Given the description of an element on the screen output the (x, y) to click on. 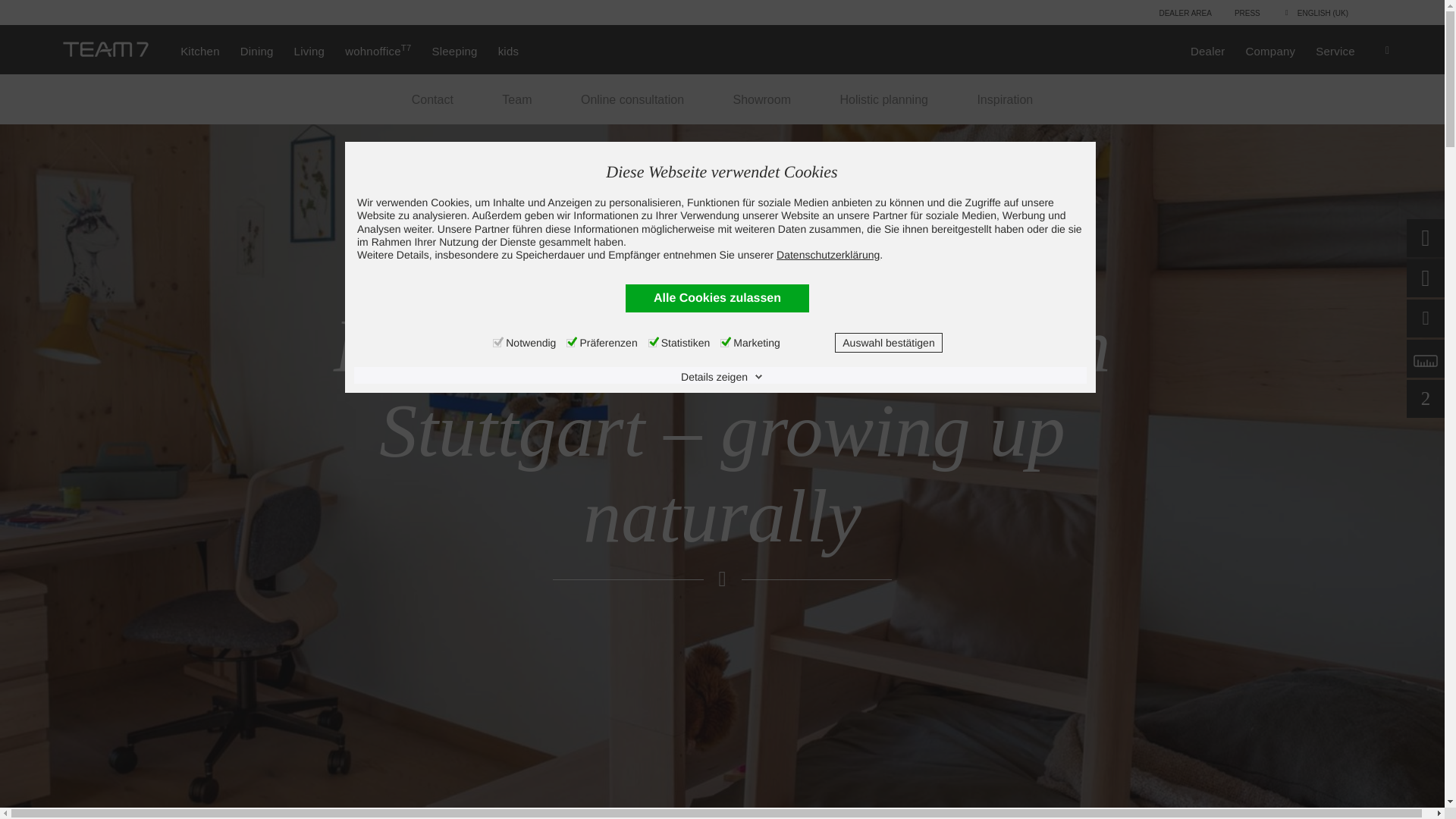
Alle Cookies zulassen (717, 298)
Details zeigen (721, 376)
